Given the description of an element on the screen output the (x, y) to click on. 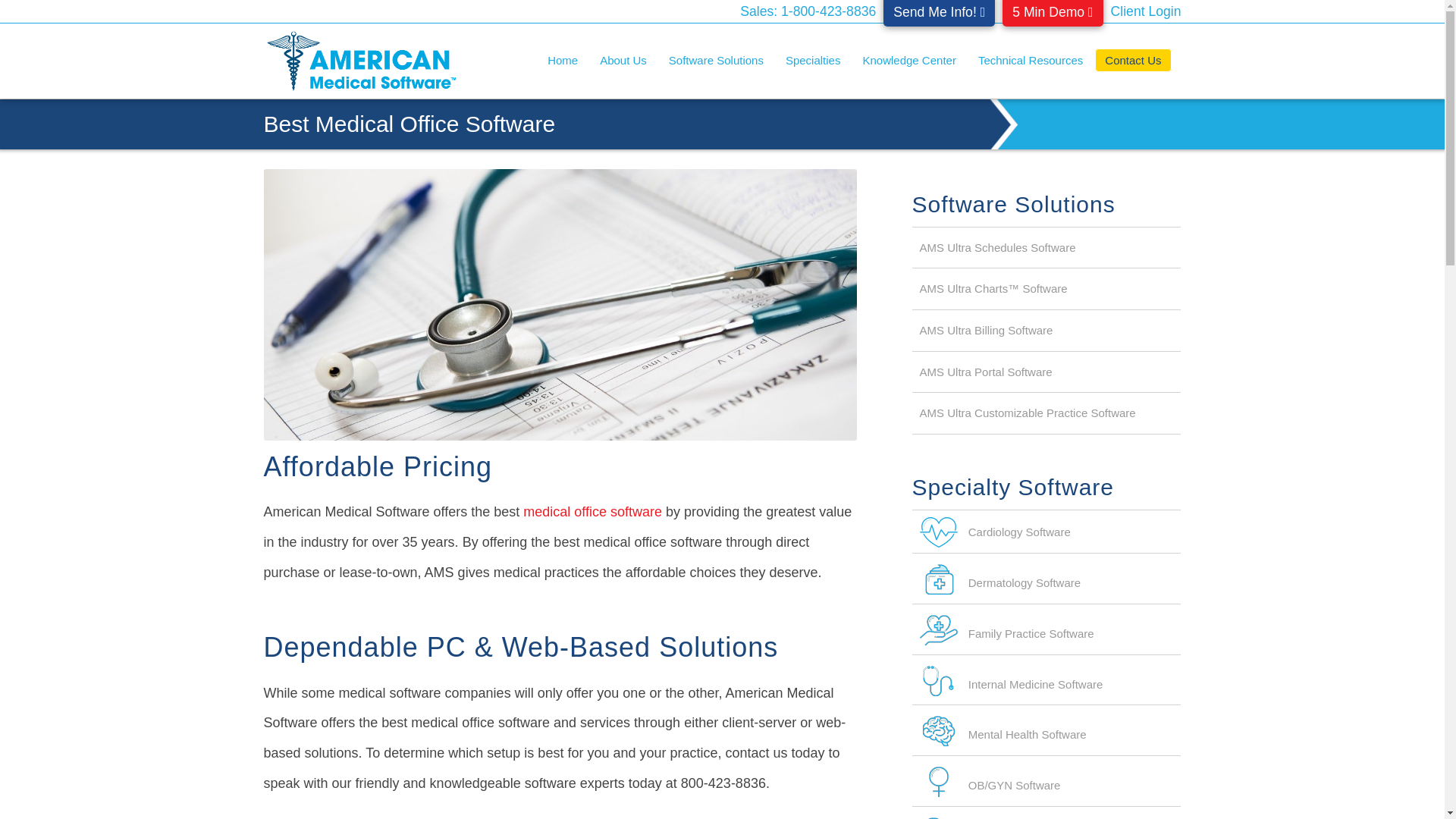
Home (561, 60)
Software Solutions (721, 60)
Knowledge Center (913, 60)
Client Login (1145, 11)
Send Me Info! (938, 13)
Sales: 1-800-423-8836 (807, 11)
Specialties (818, 60)
Permanent Link: Best Medical Office Software (409, 123)
5 Min Demo (1052, 13)
About Us (627, 60)
Technical Resources (1035, 60)
